Given the description of an element on the screen output the (x, y) to click on. 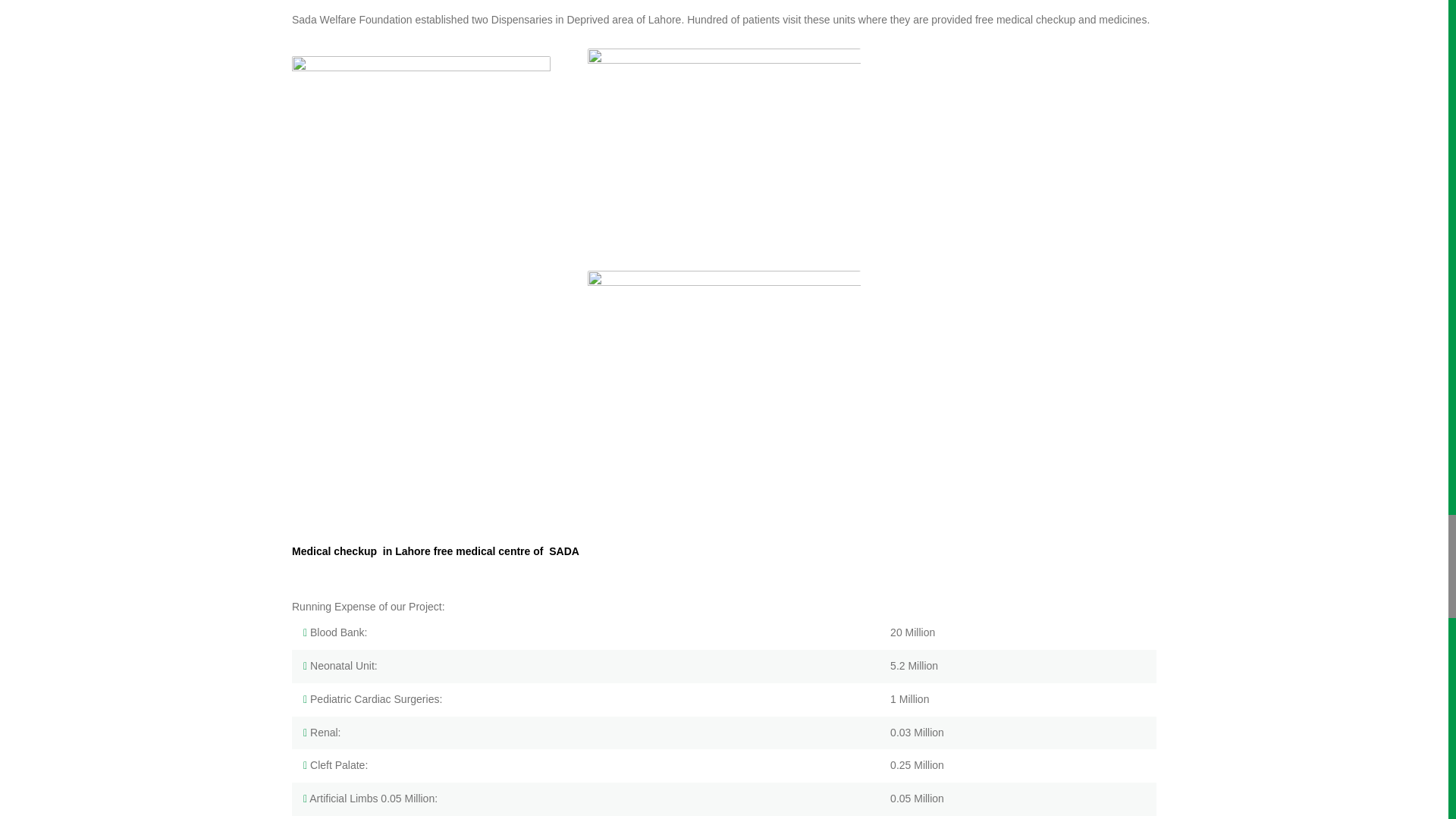
2 (724, 150)
1 (724, 373)
